Given the description of an element on the screen output the (x, y) to click on. 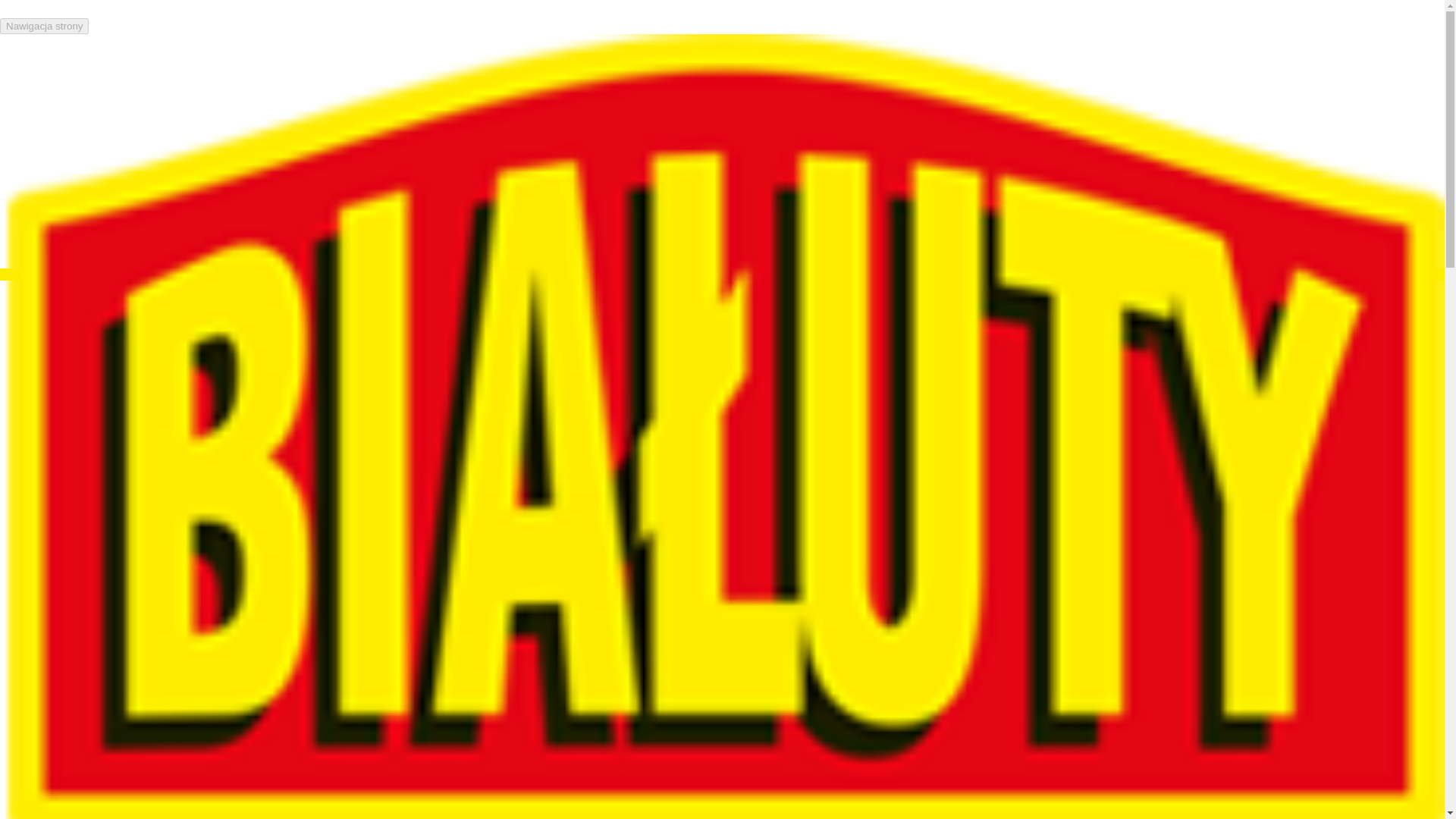
Nawigacja strony (44, 26)
RETURN TO MAIN PAGE (1070, 373)
